Given the description of an element on the screen output the (x, y) to click on. 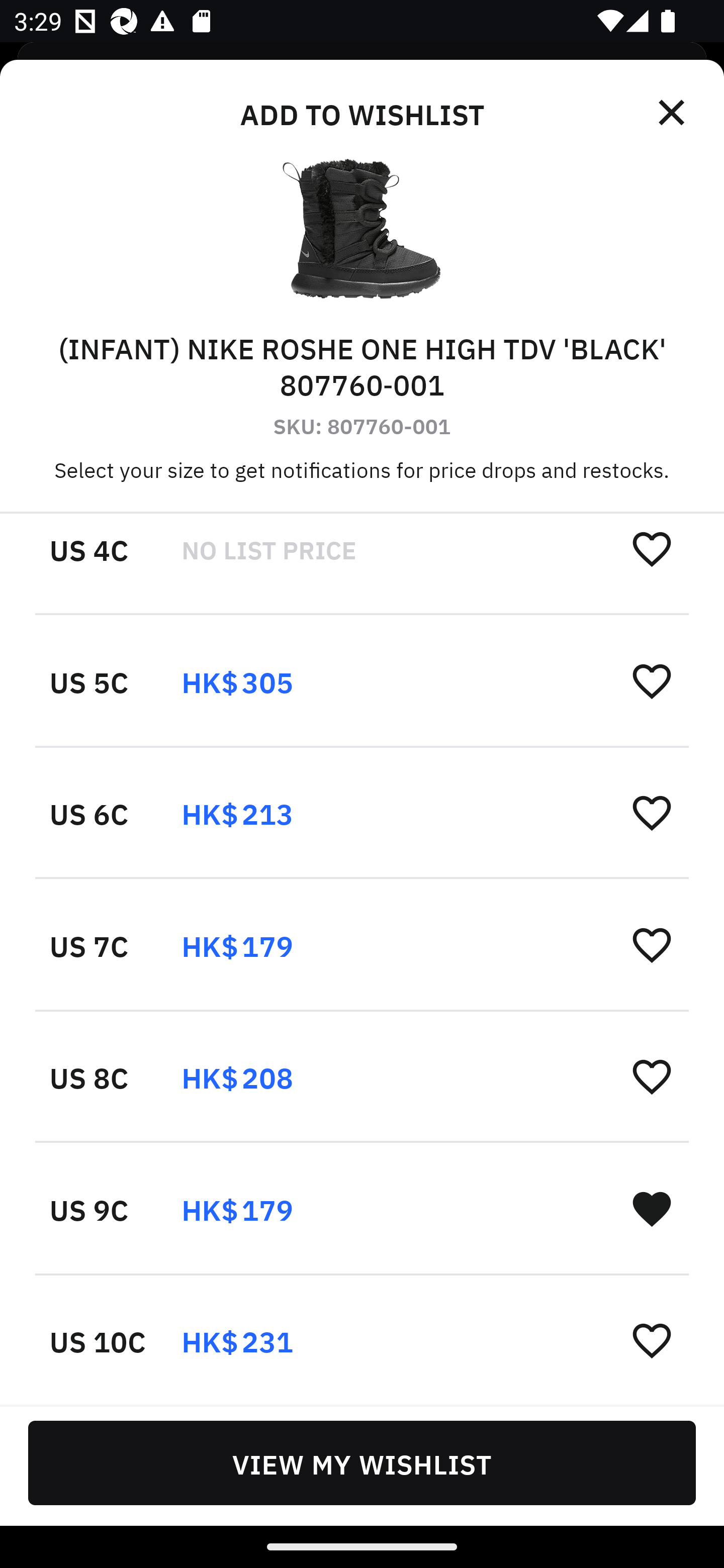
 (672, 112)
󰋕 (651, 547)
󰋕 (651, 681)
󰋕 (651, 812)
󰋕 (651, 944)
󰋕 (651, 1076)
󰋑 (651, 1207)
󰋕 (651, 1339)
VIEW MY WISHLIST (361, 1462)
